Given the description of an element on the screen output the (x, y) to click on. 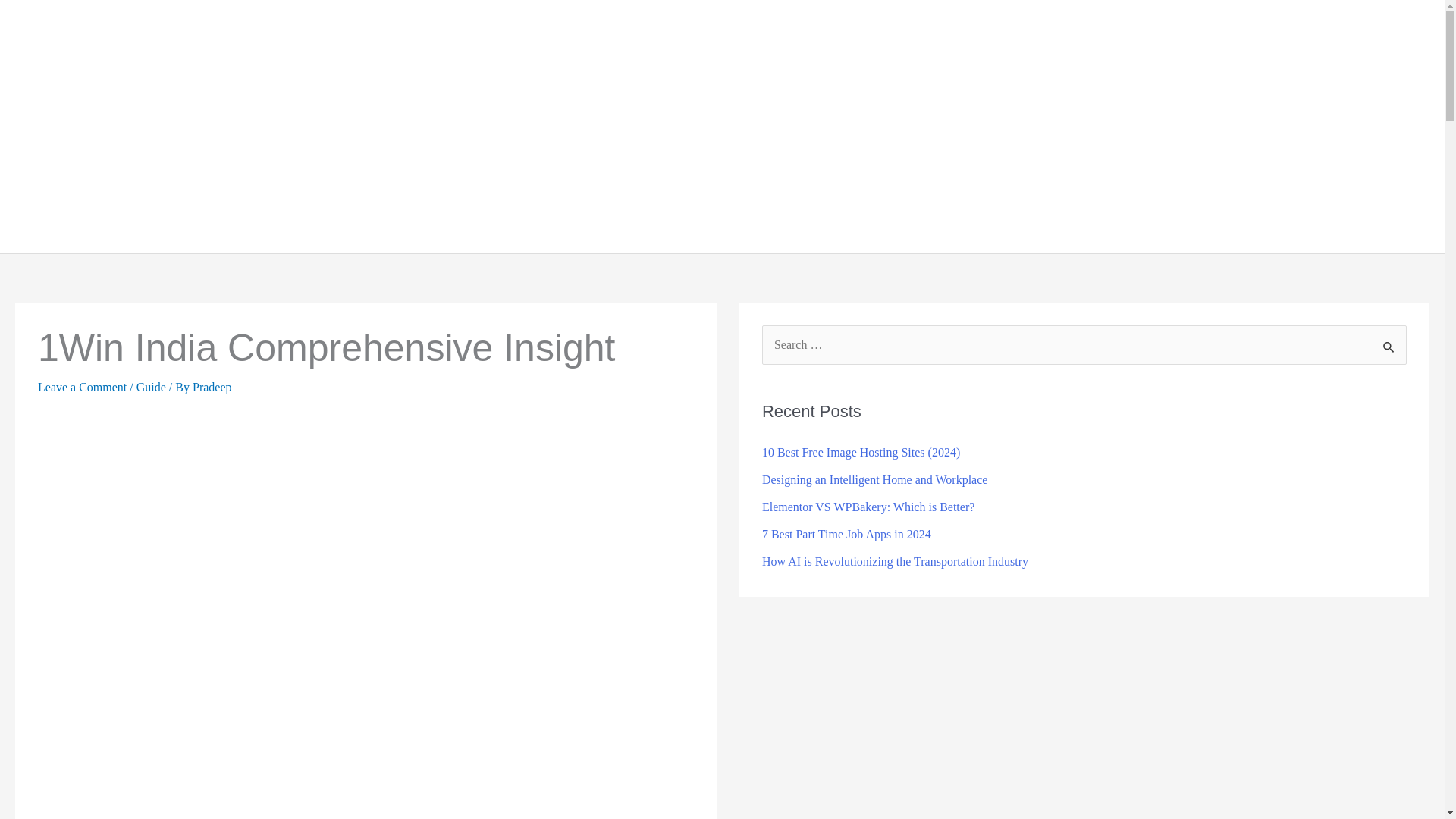
Contact us (1383, 126)
Technology (997, 126)
Review (1308, 126)
Guide (1079, 126)
Gaming (1145, 126)
View all posts by Pradeep (211, 386)
Cryptocurrency (1226, 126)
